Given the description of an element on the screen output the (x, y) to click on. 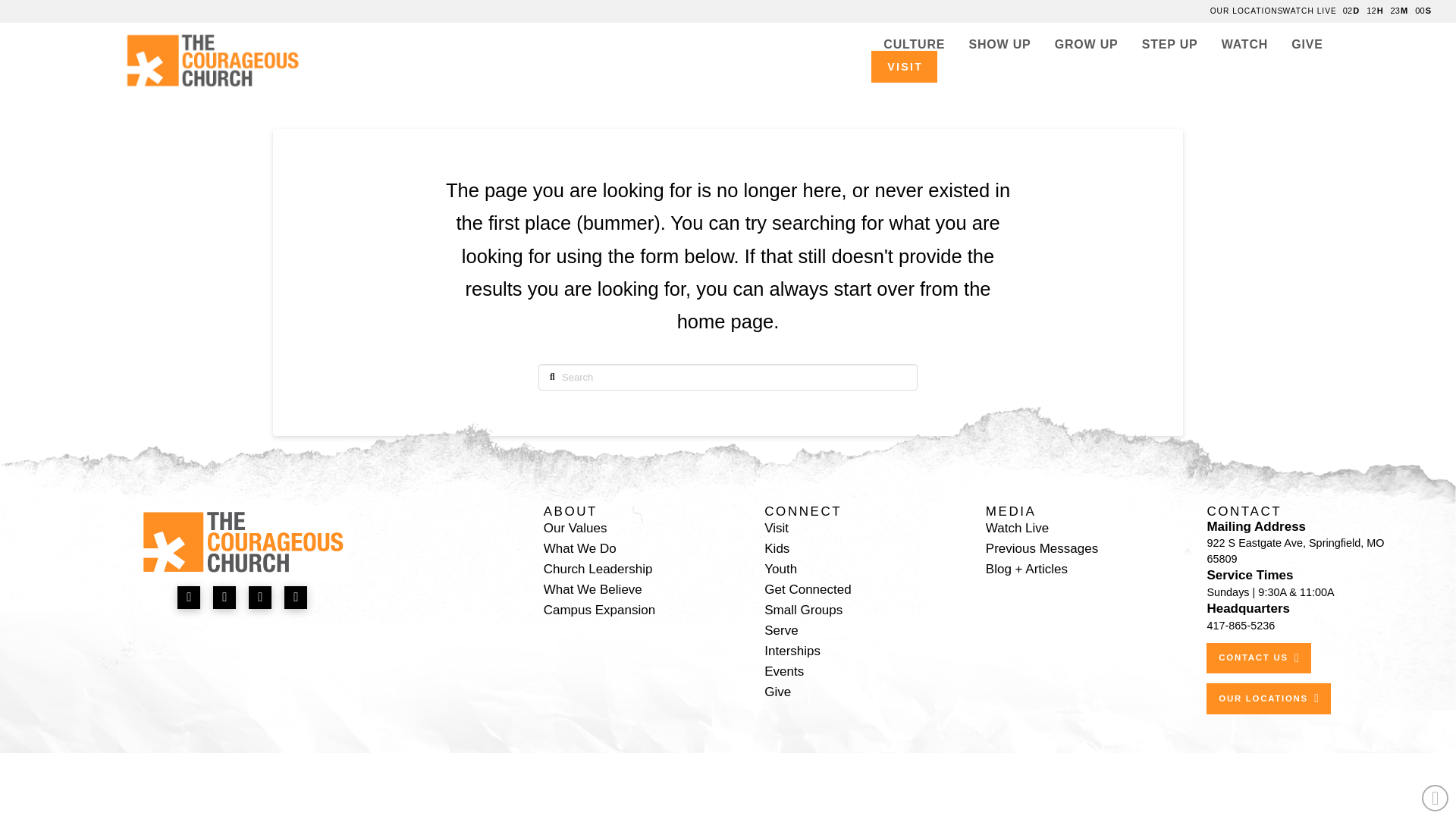
Interships (792, 650)
WATCH LIVE (1312, 10)
Back to Top (1435, 797)
Watch Live (1016, 527)
Give (777, 691)
Church Leadership (597, 568)
GIVE (1307, 44)
What We Do (579, 548)
SHOW UP (999, 44)
OUR LOCATIONS (1268, 698)
Serve (780, 629)
Our Values (575, 527)
What We Believe (592, 589)
Kids (776, 548)
Events (783, 670)
